Given the description of an element on the screen output the (x, y) to click on. 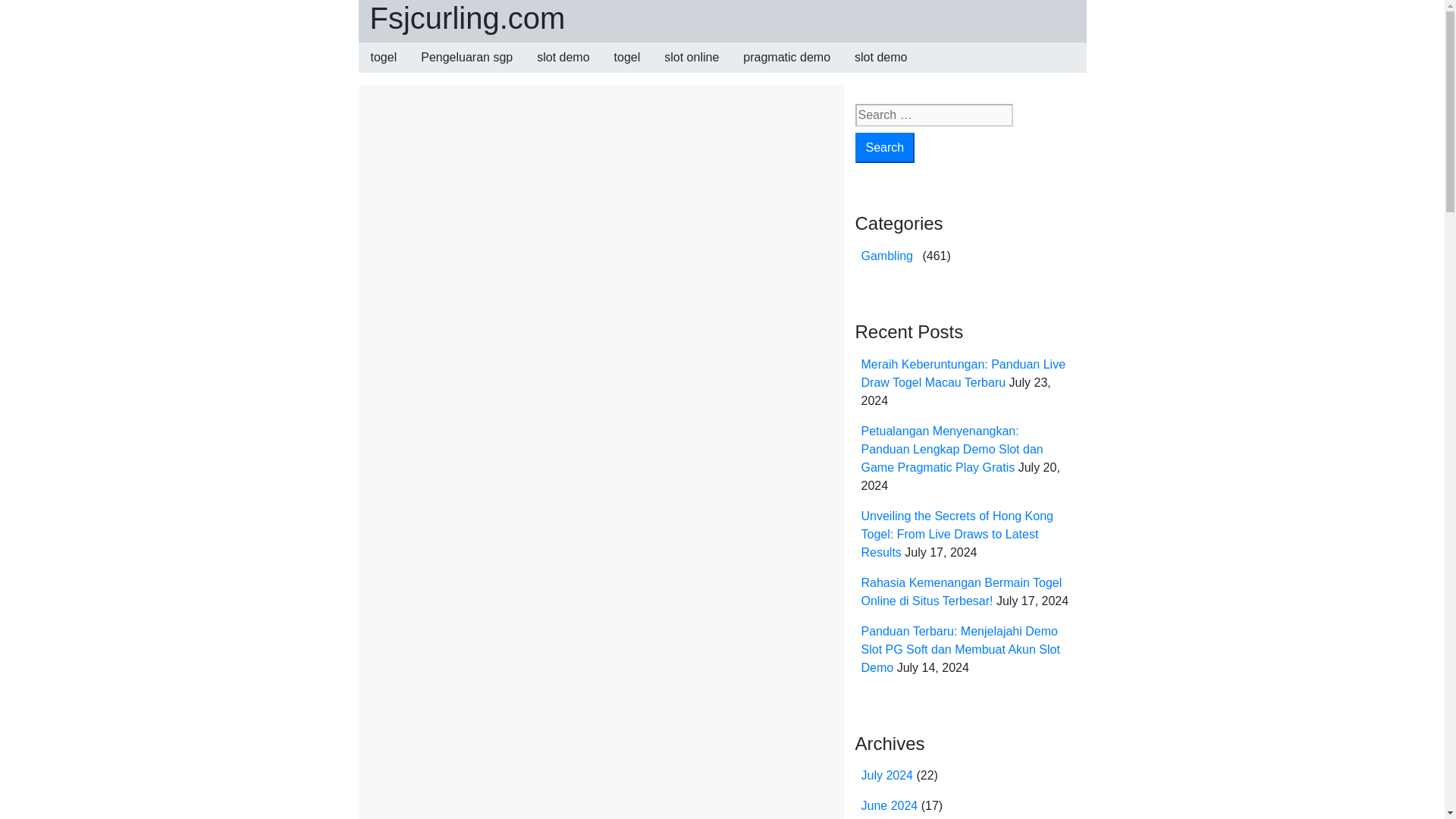
July 2024 (887, 775)
fsjcurling (571, 135)
Pengeluaran sgp (466, 57)
Gambling (887, 255)
pragmatic demo (786, 57)
February 1, 2022 (477, 135)
Meraih Keberuntungan: Panduan Live Draw Togel Macau Terbaru (963, 373)
slot online (691, 57)
slot demo (562, 57)
slot demo (880, 57)
togel (627, 57)
Fsjcurling.com (467, 18)
